Given the description of an element on the screen output the (x, y) to click on. 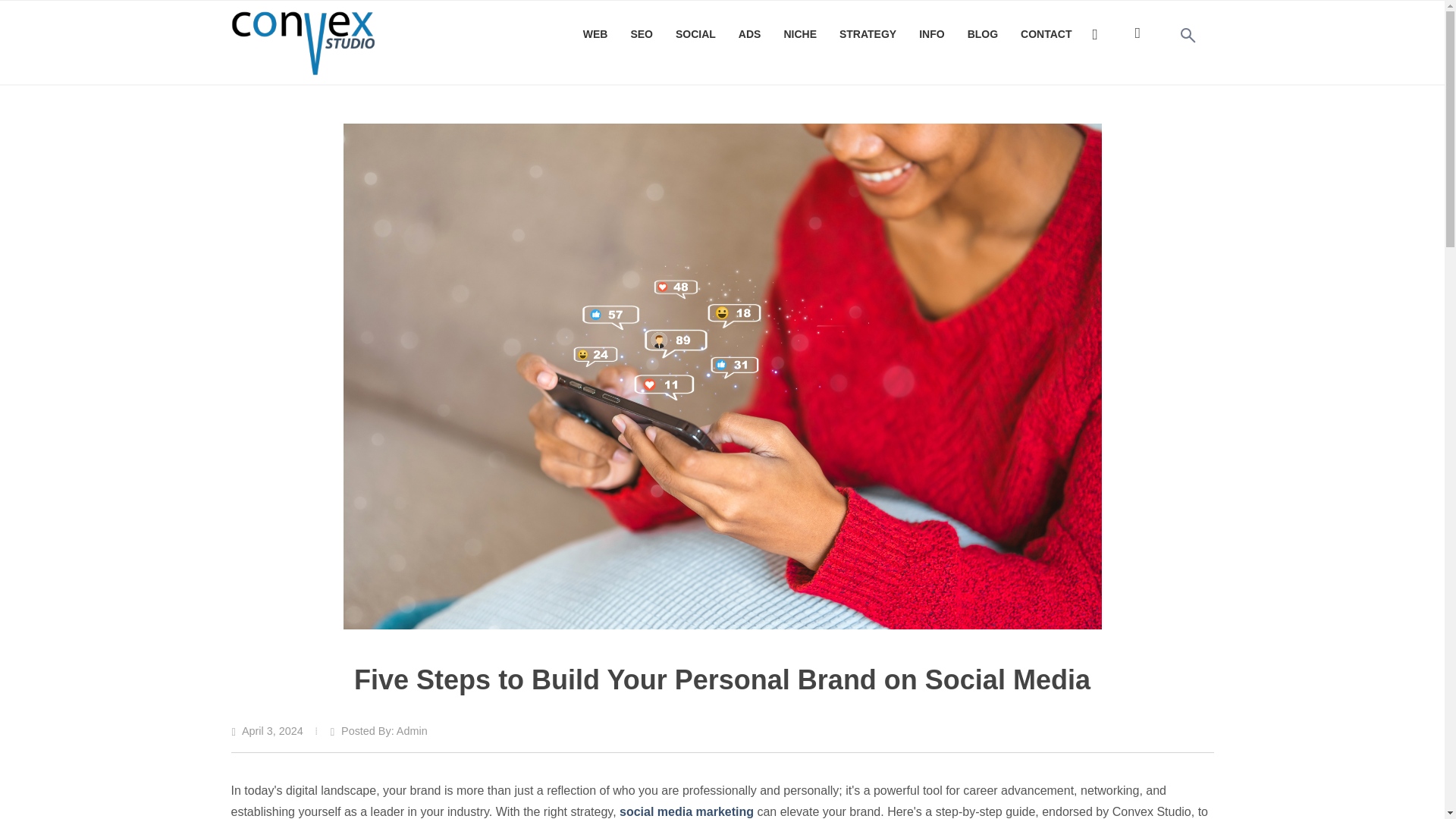
NICHE (799, 34)
CALL US (1098, 32)
STRATEGY (867, 34)
INFO (931, 34)
Login (1134, 30)
SOCIAL (694, 34)
WEB (596, 34)
Search Website (1183, 30)
